Given the description of an element on the screen output the (x, y) to click on. 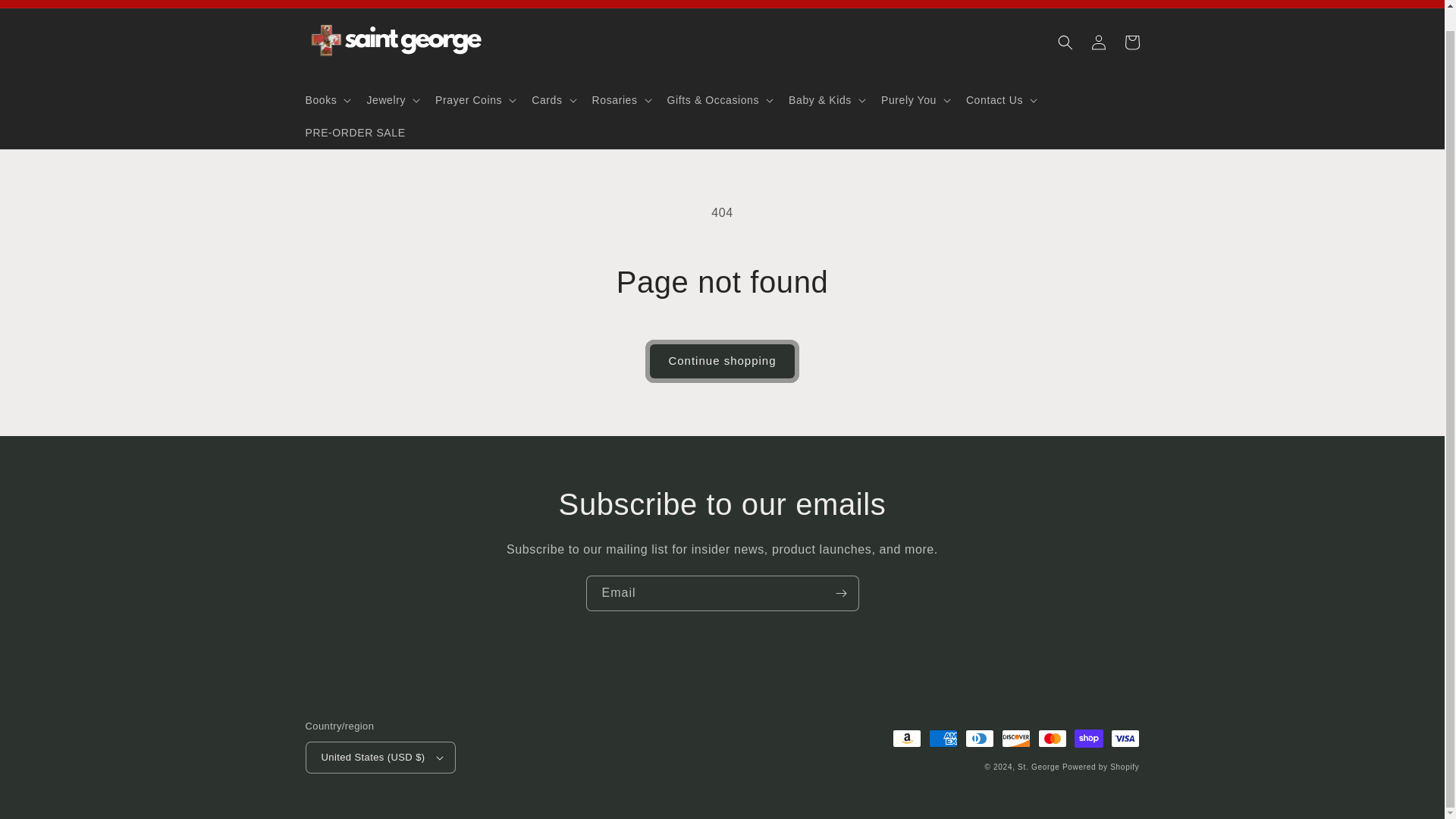
Skip to content (49, 11)
